Given the description of an element on the screen output the (x, y) to click on. 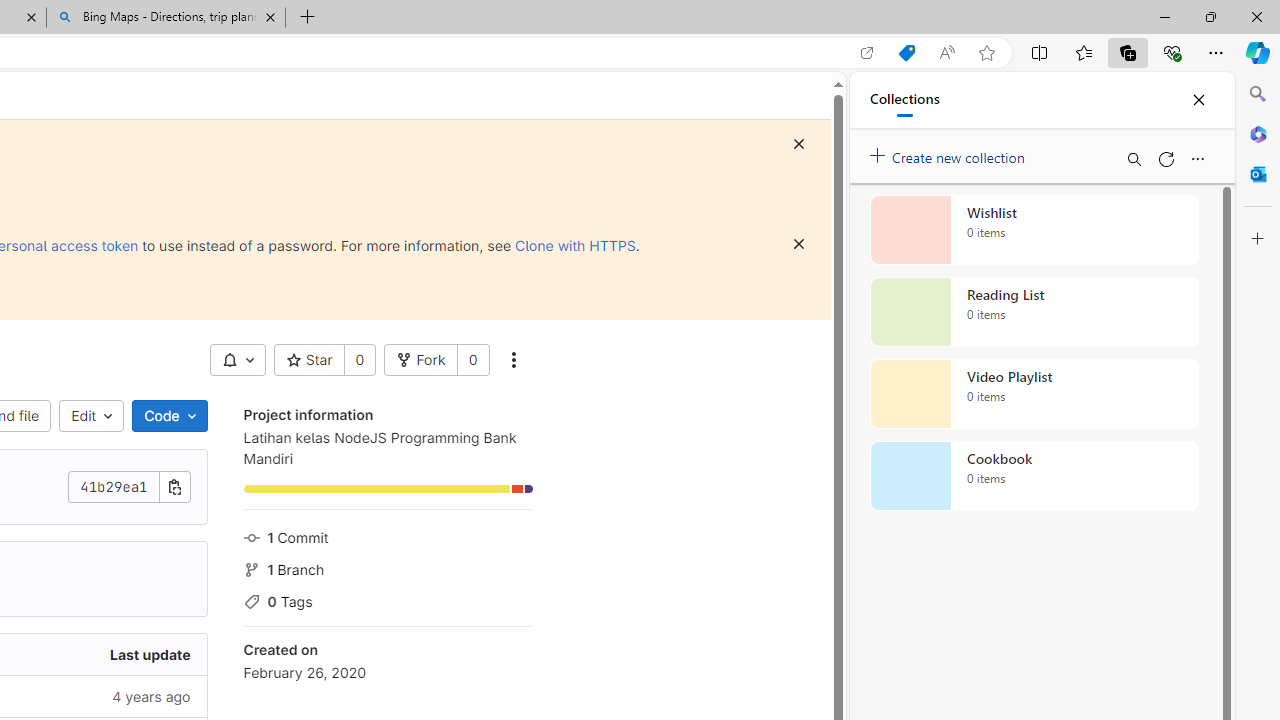
 Star (308, 359)
